Given the description of an element on the screen output the (x, y) to click on. 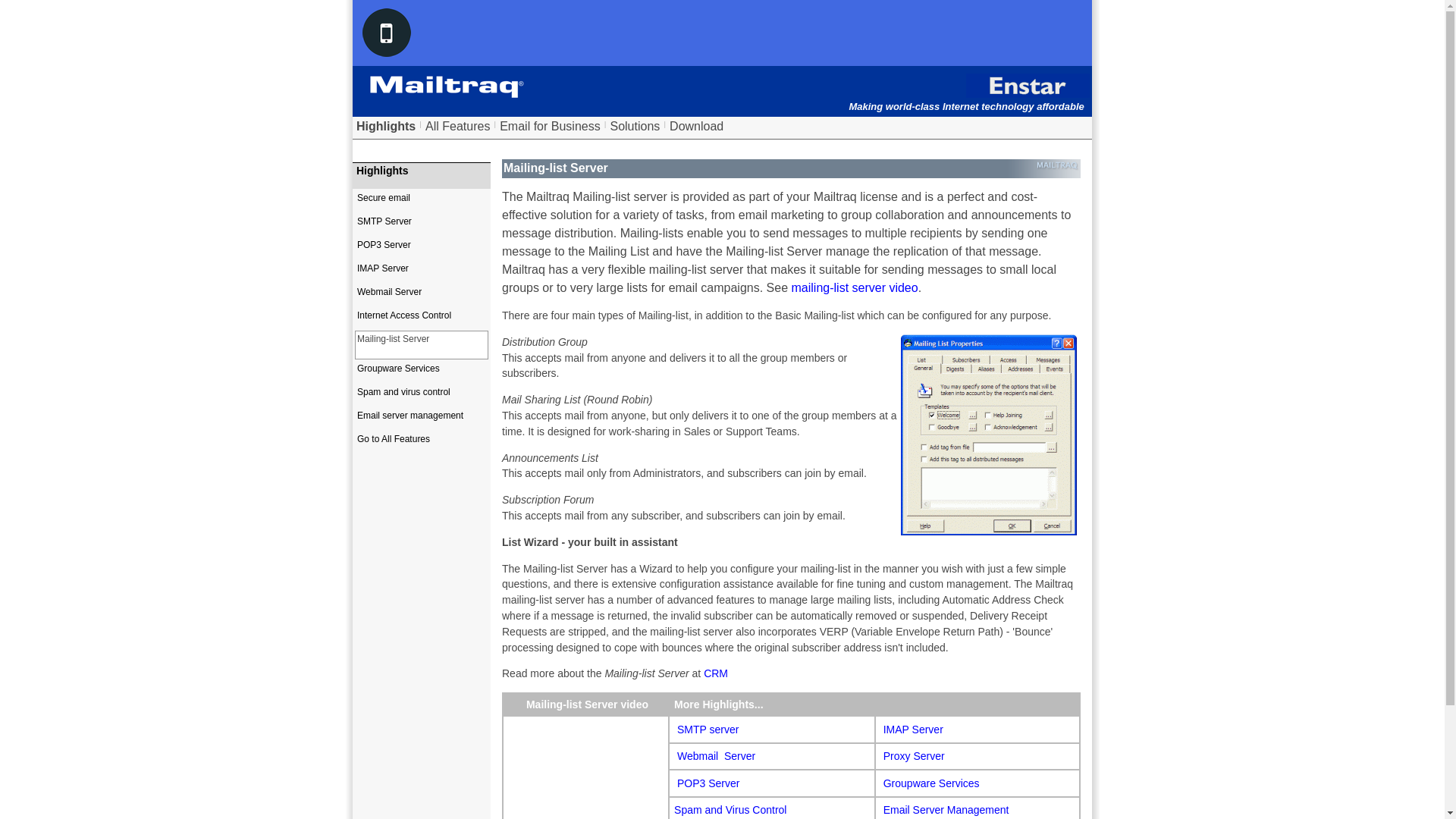
Solutions (634, 126)
Highlights (385, 126)
POP3 Server (708, 783)
Mailtraq email server management (946, 809)
Spam and virus control (421, 398)
SMTP Server (421, 226)
Mailtraq Groupware Services (931, 783)
Go to All Features (421, 444)
Download (696, 126)
Mailtraq POP3 server (708, 783)
Mailtraq SMTP server (707, 729)
Groupware Services (421, 374)
Groupware Services (931, 783)
Webmail Server (421, 297)
Secure email (421, 203)
